Given the description of an element on the screen output the (x, y) to click on. 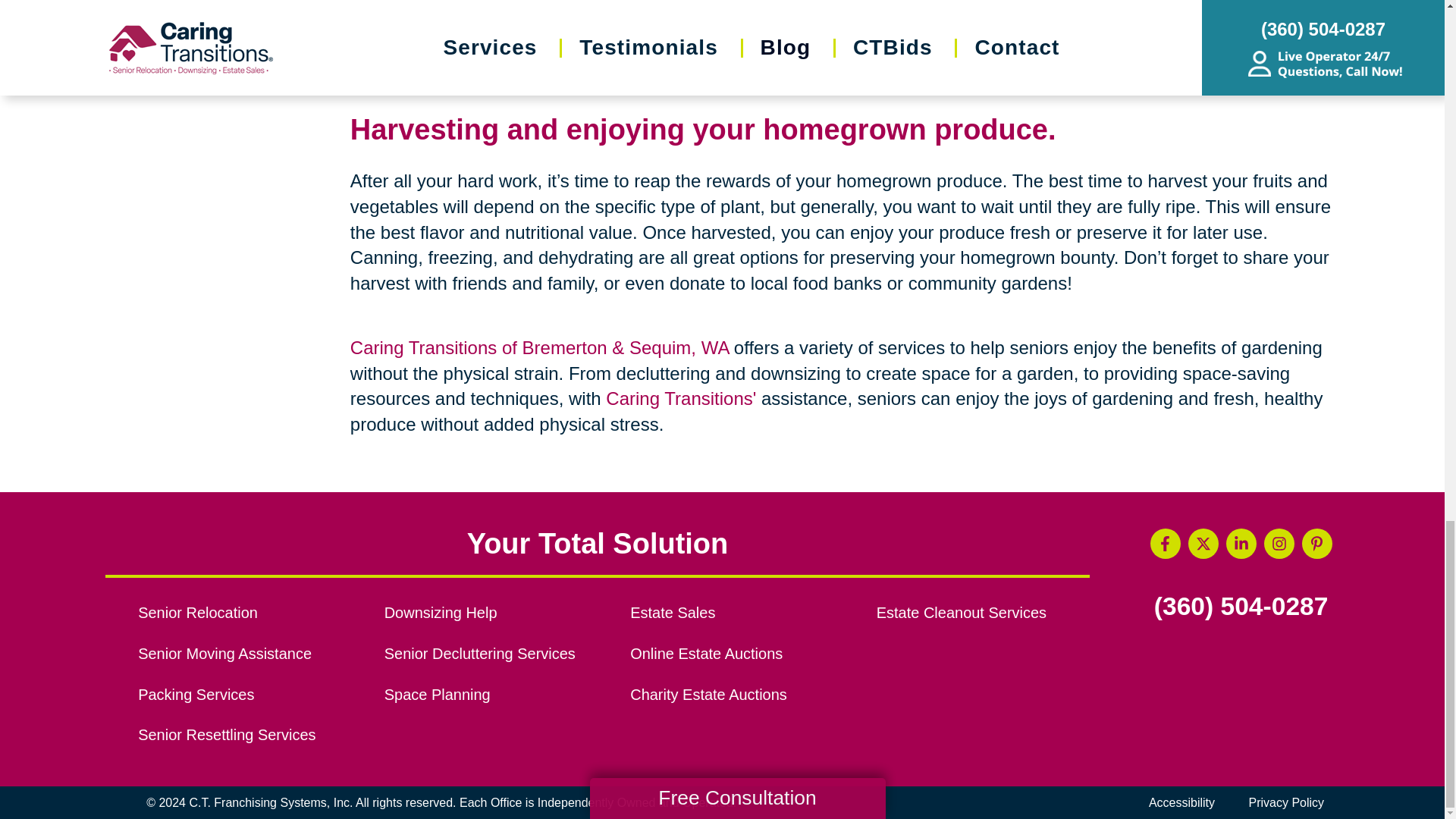
Instagram (1278, 543)
Senior Decluttering Services (490, 654)
Pinterest (1316, 543)
LinkedIn (1240, 543)
Twitter (1203, 543)
Space Planning (490, 695)
Senior Moving Assistance (244, 654)
Facebook (1165, 543)
Packing Services (244, 695)
Senior Resettling Services (244, 735)
Senior Relocation (244, 613)
Caring Transitions' (680, 398)
Downsizing Help (490, 613)
